Given the description of an element on the screen output the (x, y) to click on. 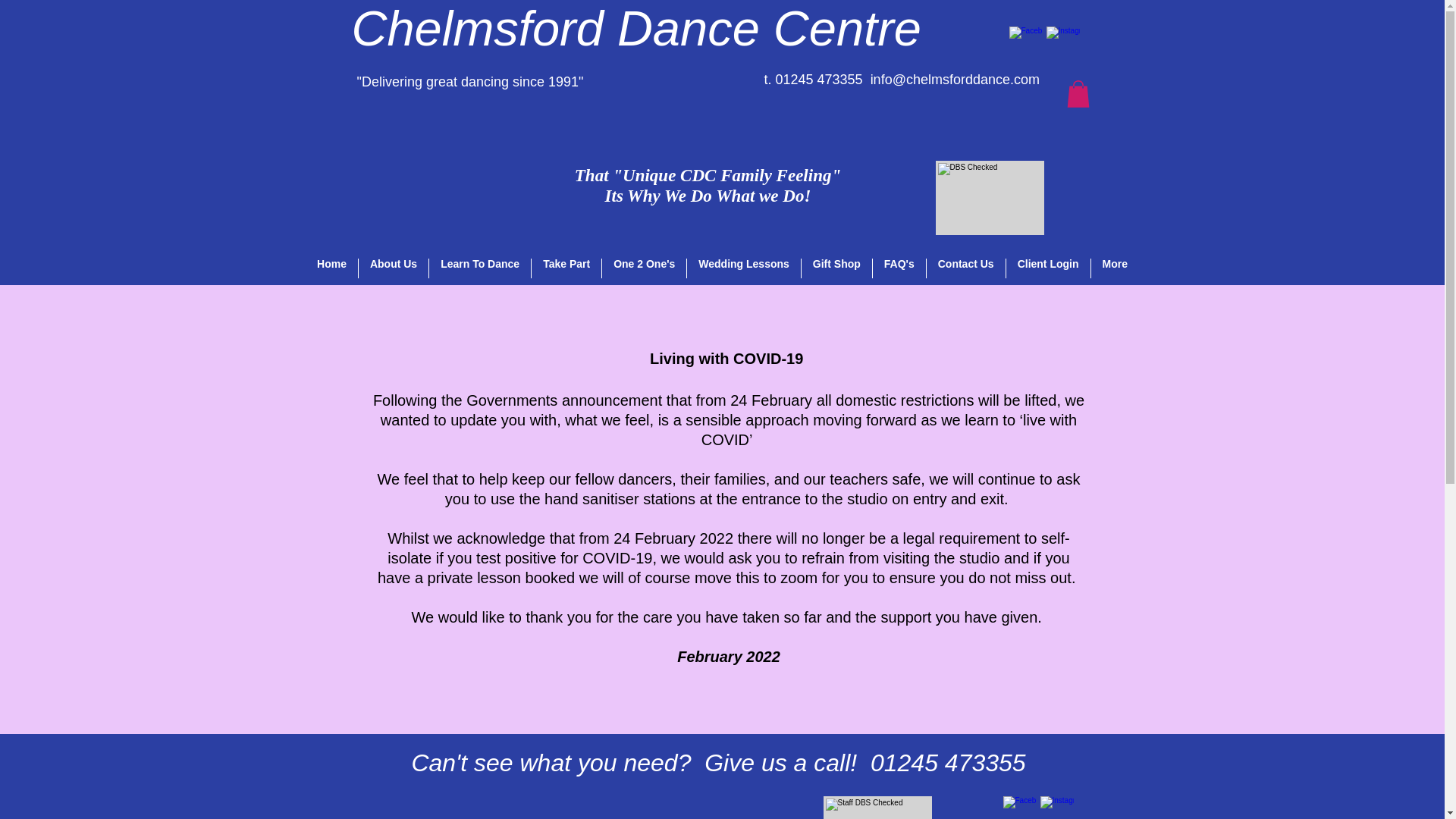
Wedding Lessons (743, 268)
Gift Shop (837, 268)
FAQ's (899, 268)
About Us (393, 268)
Learn To Dance (480, 268)
Client Login (1048, 268)
Chelmsford (478, 28)
Can't see what you need?  Give us a call!  01245 473355 (717, 762)
One 2 One's (643, 268)
Home (708, 185)
Contact Us (331, 268)
Take Part (966, 268)
